Given the description of an element on the screen output the (x, y) to click on. 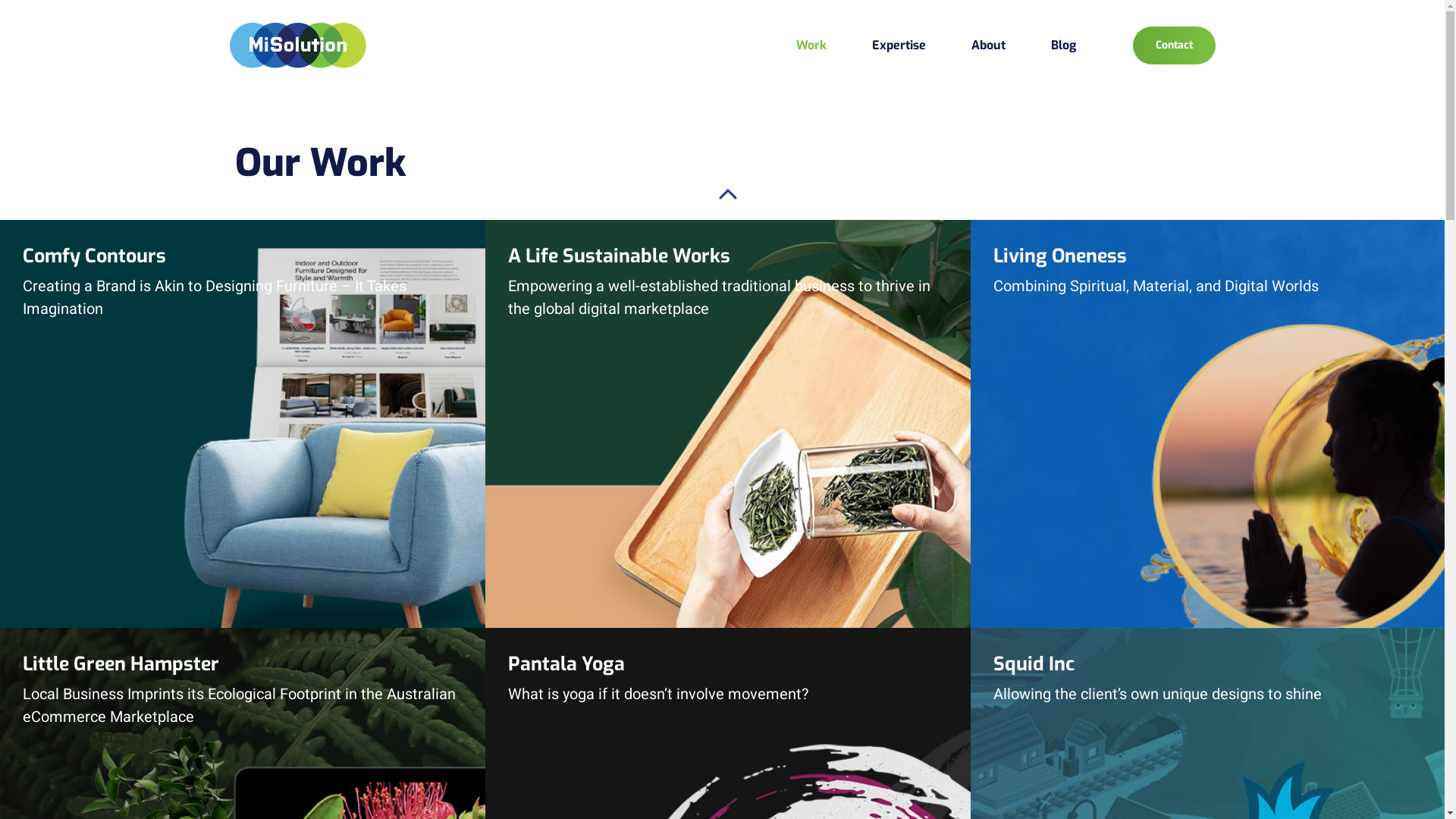
Blog Element type: text (1063, 45)
Expertise Element type: text (898, 45)
About Element type: text (987, 45)
Work Element type: text (811, 45)
Contact Element type: text (1173, 45)
